Given the description of an element on the screen output the (x, y) to click on. 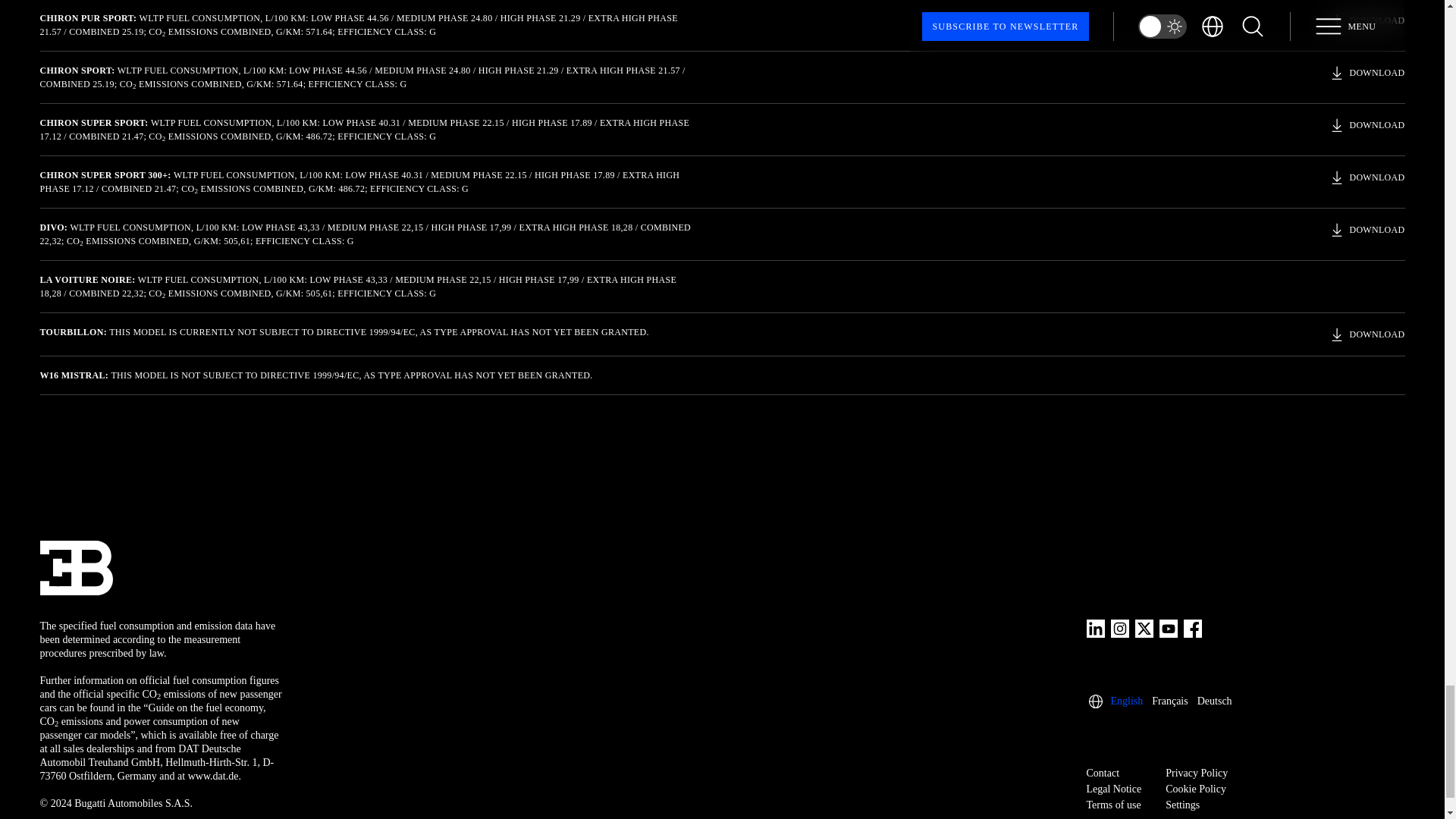
Bugatti on Linkedin (1094, 628)
Bugatti (75, 567)
DOWNLOAD (1366, 125)
Bugatti on X (1143, 628)
DOWNLOAD (1366, 177)
Bugatti on Linkedin (1094, 628)
Bugatti on Instagram (1118, 628)
DOWNLOAD (1366, 229)
Bugatti on Facebook (1191, 628)
Bugatti on Youtube (1167, 628)
